Given the description of an element on the screen output the (x, y) to click on. 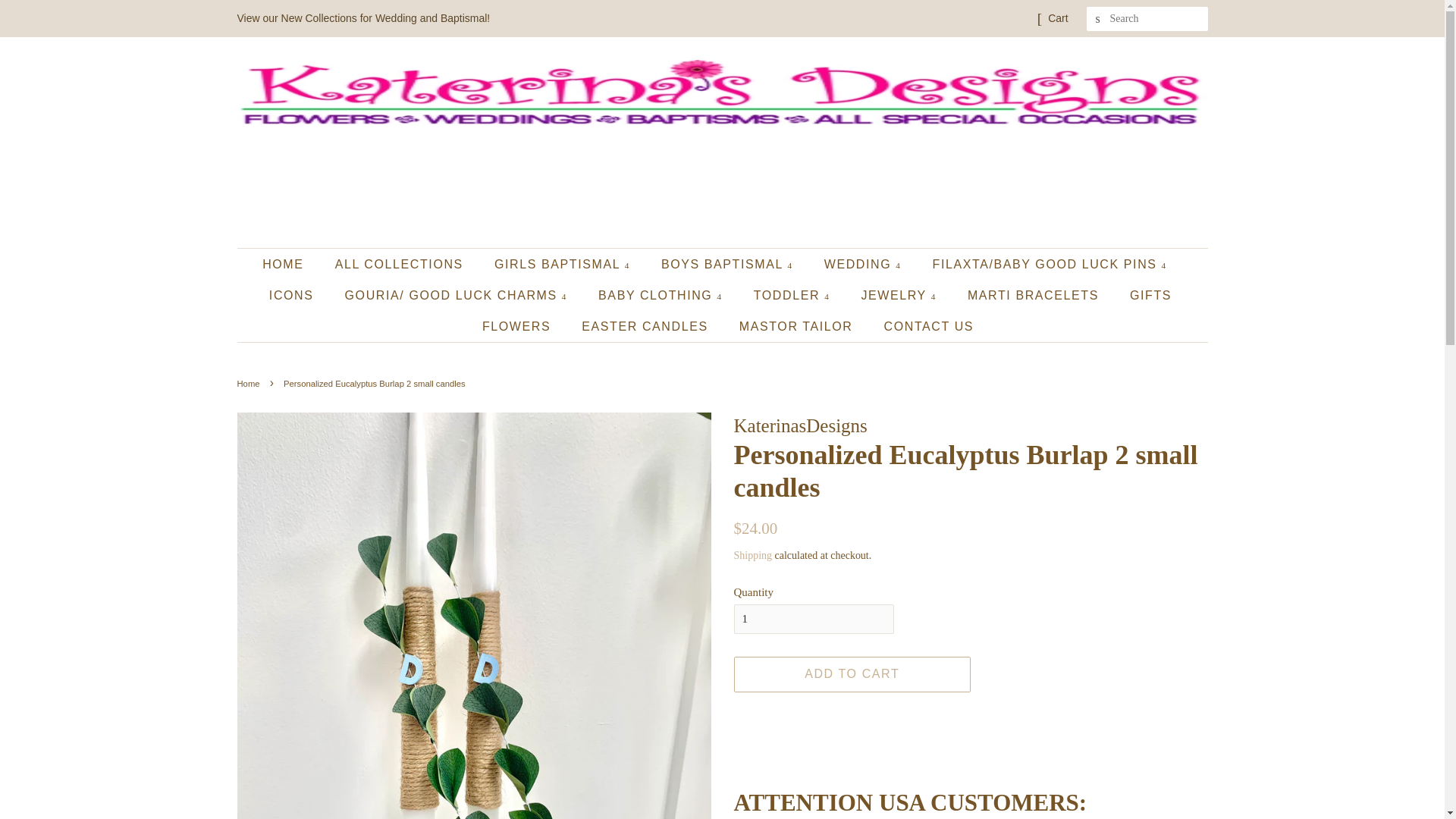
SEARCH (1097, 18)
1 (813, 618)
Cart (1057, 18)
Back to the frontpage (249, 383)
